Given the description of an element on the screen output the (x, y) to click on. 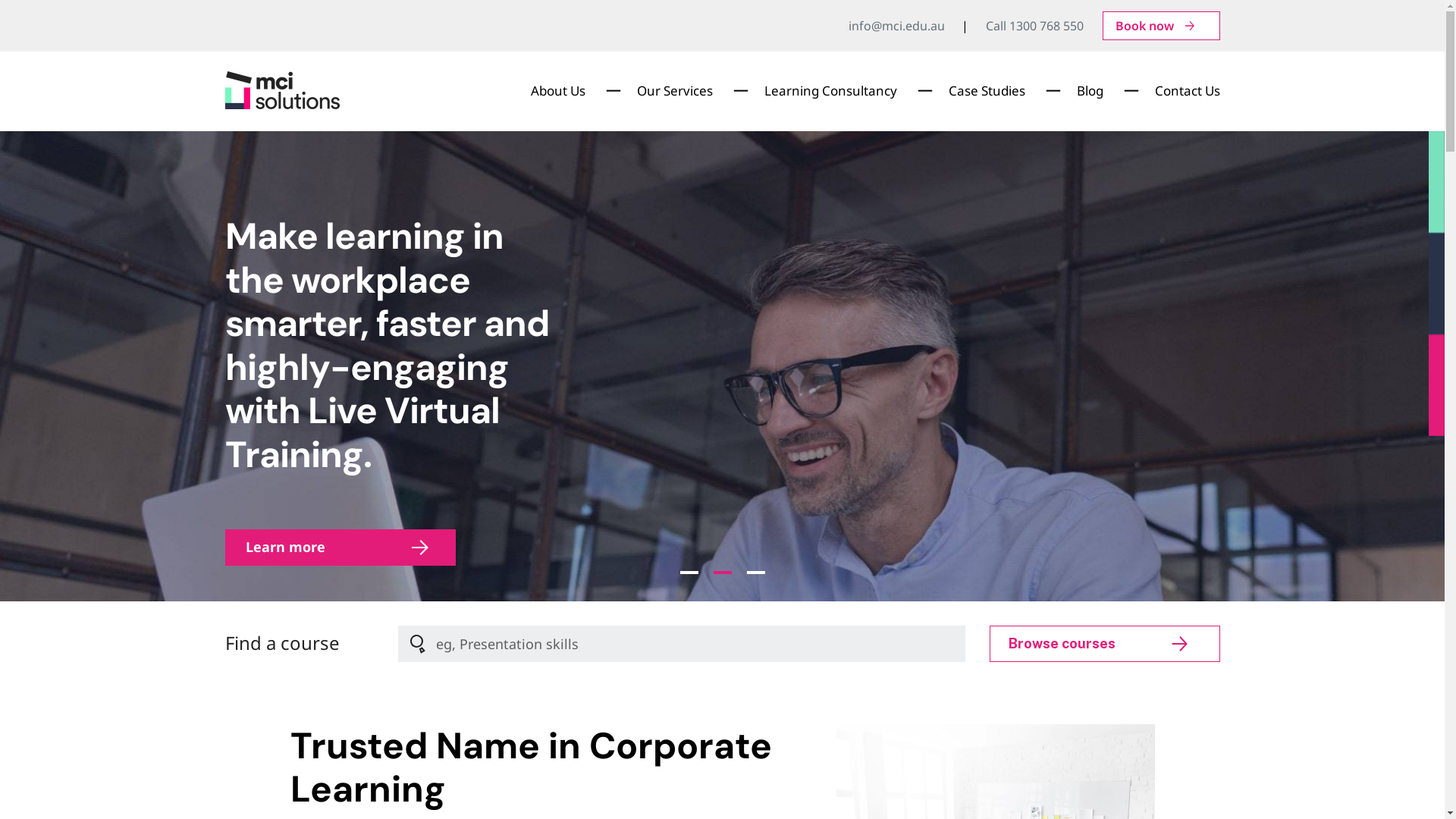
About Us Element type: text (557, 90)
Blog Element type: text (1089, 90)
Learn more Element type: text (339, 547)
Search Element type: hover (680, 643)
Browse courses Element type: text (1103, 643)
Case Studies Element type: text (985, 90)
Learning Consultancy Element type: text (830, 90)
Our Services Element type: text (674, 90)
Book now Element type: text (1161, 25)
info@mci.edu.au Element type: text (895, 25)
Contact Us Element type: text (1186, 90)
Call 1300 768 550 Element type: text (1034, 25)
MCI Solutions Element type: text (290, 126)
